Given the description of an element on the screen output the (x, y) to click on. 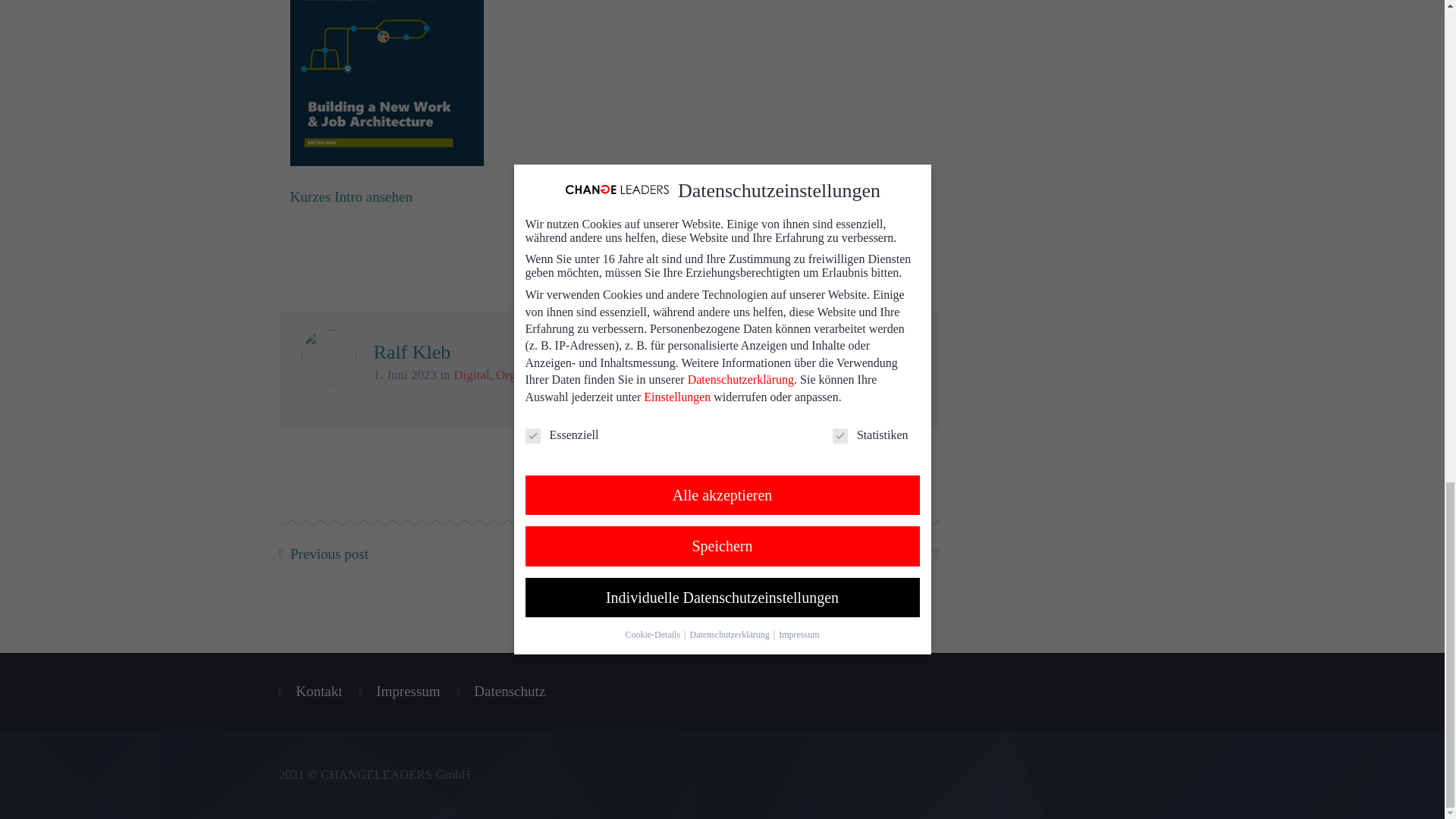
View all posts in Strategy (631, 374)
View all posts in Organisation (529, 374)
View all posts in Digital (470, 374)
View all posts in People (586, 374)
